Given the description of an element on the screen output the (x, y) to click on. 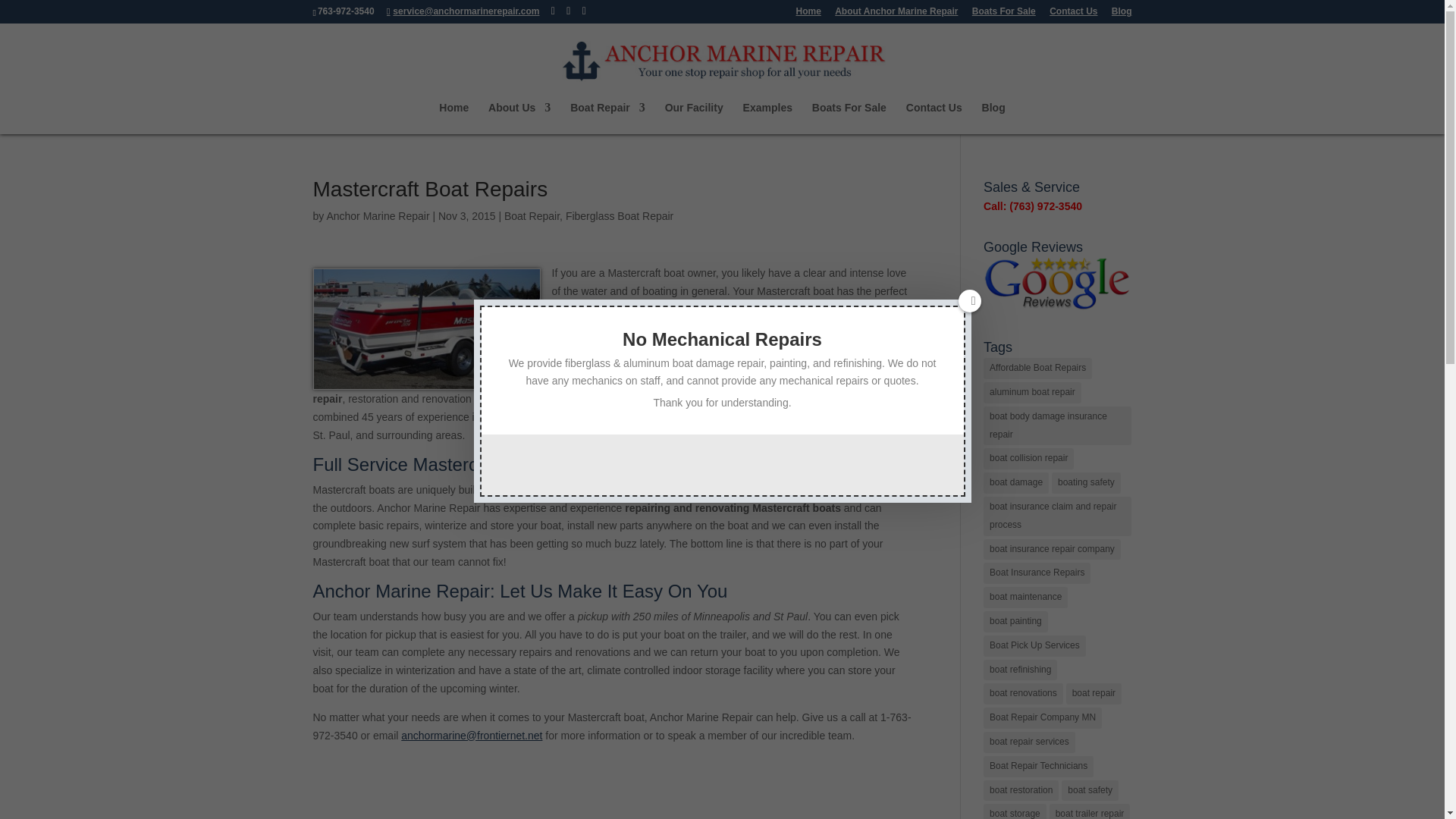
About Us (518, 118)
Posts by Anchor Marine Repair (377, 215)
Contact Us (1073, 14)
Home (453, 118)
Boats For Sale (1003, 14)
Home (808, 14)
About Anchor Marine Repair (896, 14)
Blog (1122, 14)
Boat Repair (607, 118)
